Given the description of an element on the screen output the (x, y) to click on. 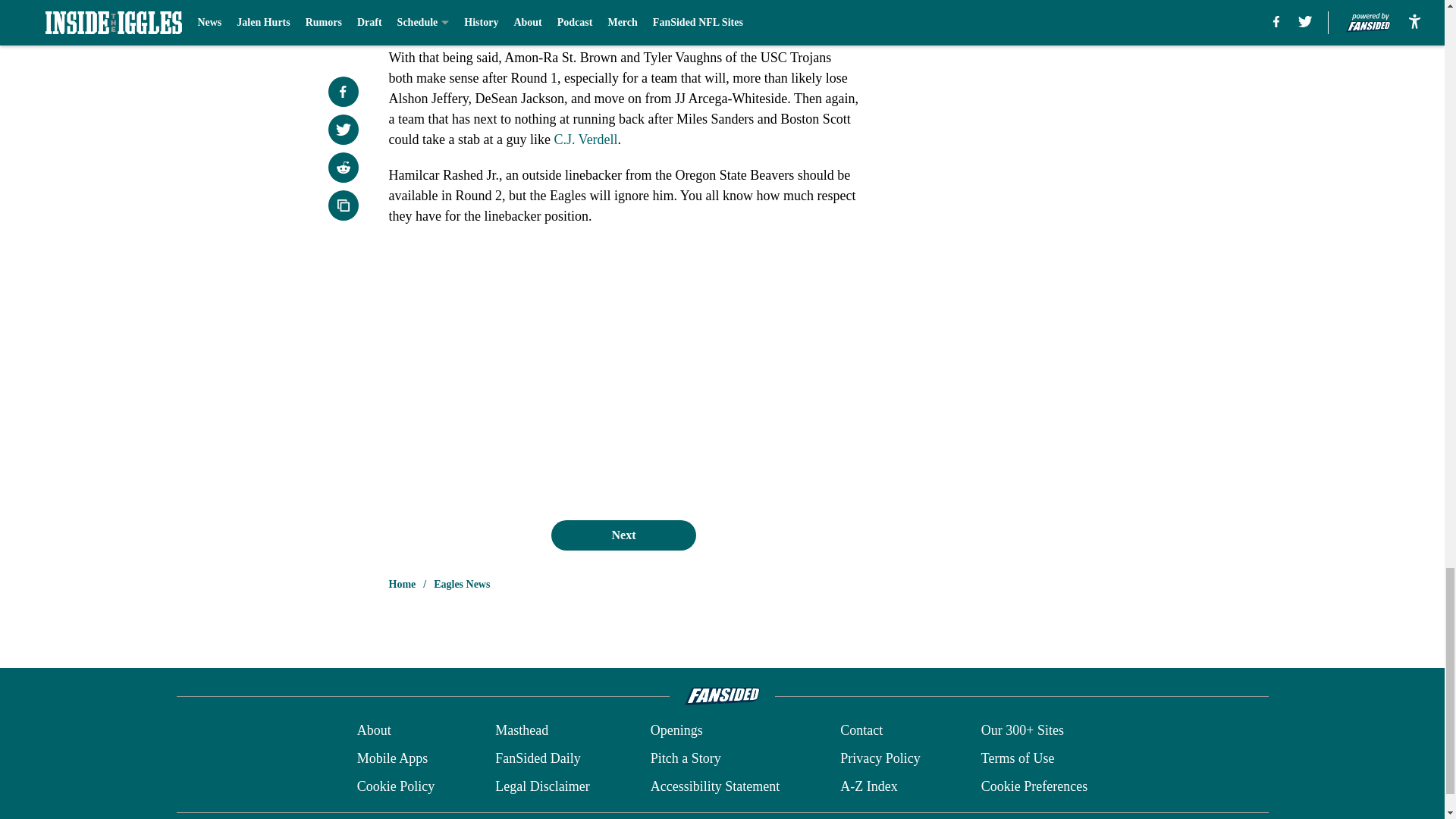
C.J. Verdell (585, 139)
Masthead (521, 730)
Next (622, 535)
Openings (676, 730)
Mobile Apps (392, 758)
About (373, 730)
Contact (861, 730)
Eagles News (461, 584)
FanSided Daily (537, 758)
Home (401, 584)
